Given the description of an element on the screen output the (x, y) to click on. 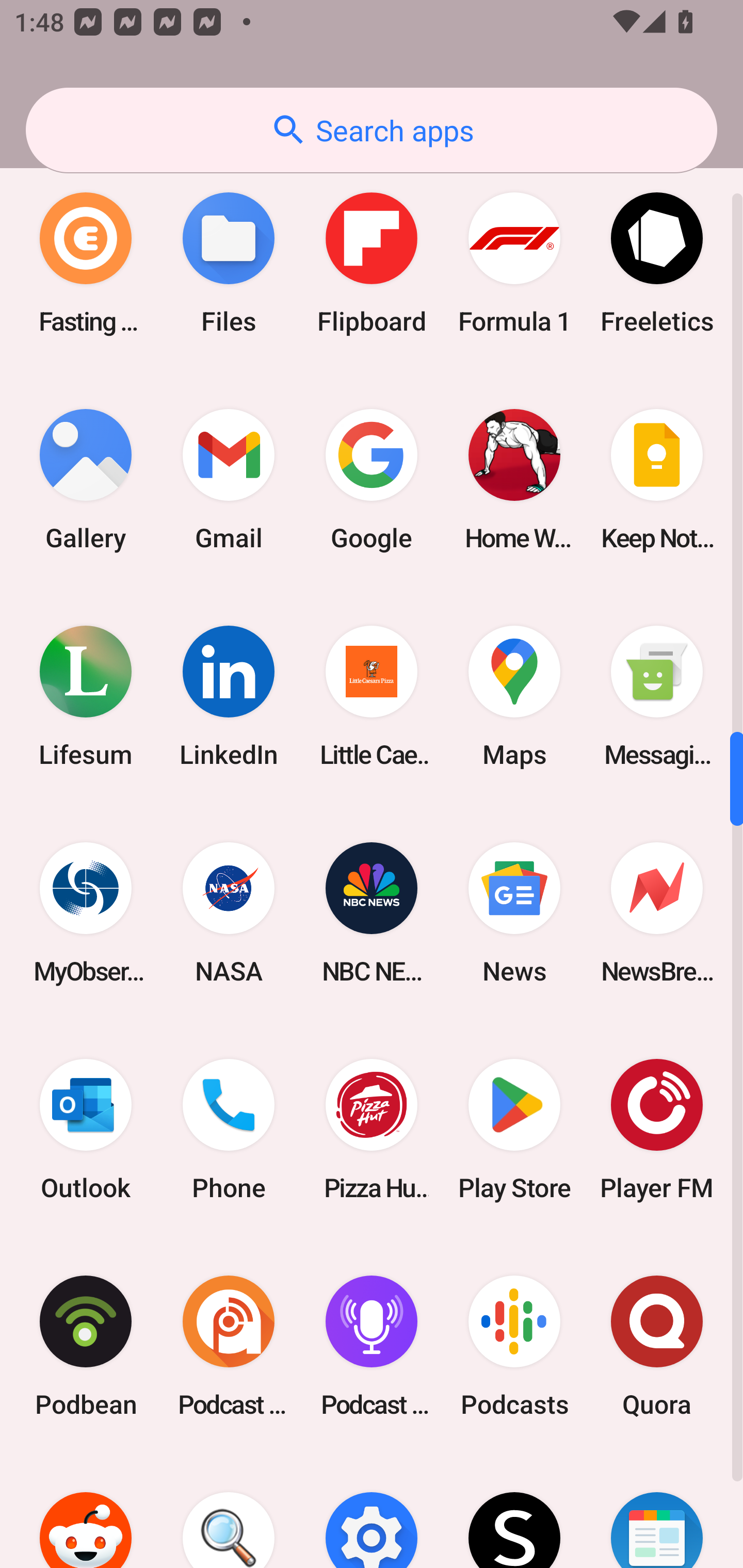
  Search apps (371, 130)
Fasting Coach (85, 263)
Files (228, 263)
Flipboard (371, 263)
Formula 1 (514, 263)
Freeletics (656, 263)
Gallery (85, 479)
Gmail (228, 479)
Google (371, 479)
Home Workout (514, 479)
Keep Notes (656, 479)
Lifesum (85, 696)
LinkedIn (228, 696)
Little Caesars Pizza (371, 696)
Maps (514, 696)
Messaging (656, 696)
MyObservatory (85, 912)
NASA (228, 912)
NBC NEWS (371, 912)
News (514, 912)
NewsBreak (656, 912)
Outlook (85, 1128)
Phone (228, 1128)
Pizza Hut HK & Macau (371, 1128)
Play Store (514, 1128)
Player FM (656, 1128)
Podbean (85, 1346)
Podcast Addict (228, 1346)
Podcast Player (371, 1346)
Podcasts (514, 1346)
Quora (656, 1346)
Reddit (85, 1511)
Search (228, 1511)
Settings (371, 1511)
SHEIN (514, 1511)
SmartNews (656, 1511)
